Given the description of an element on the screen output the (x, y) to click on. 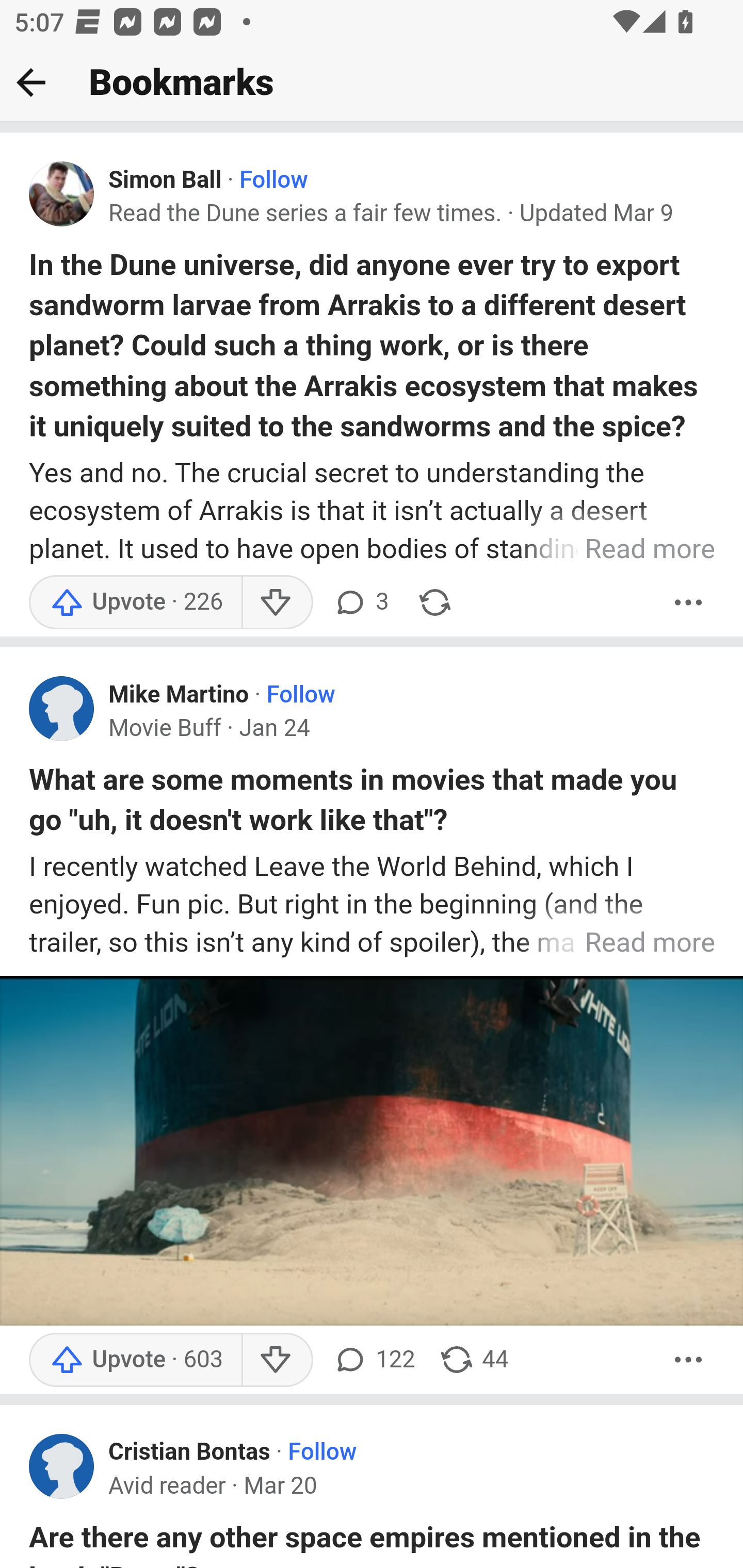
Me Home Search Add (371, 82)
Back (30, 82)
Profile photo for Simon Ball (61, 194)
Simon Ball (165, 180)
Follow (273, 180)
Updated Mar 9 Updated  Mar 9 (596, 213)
Upvote (135, 601)
Downvote (277, 601)
3 comments (360, 601)
Share (434, 601)
More (688, 601)
Profile photo for Mike Martino (61, 709)
Mike Martino (178, 694)
Follow (300, 694)
Jan 24 (274, 728)
Upvote (135, 1359)
Downvote (277, 1359)
122 comments (373, 1359)
44 shares (473, 1359)
More (688, 1359)
Profile photo for Cristian Bontas (61, 1465)
Cristian Bontas (189, 1453)
Follow (321, 1453)
Mar 20 (280, 1486)
